Given the description of an element on the screen output the (x, y) to click on. 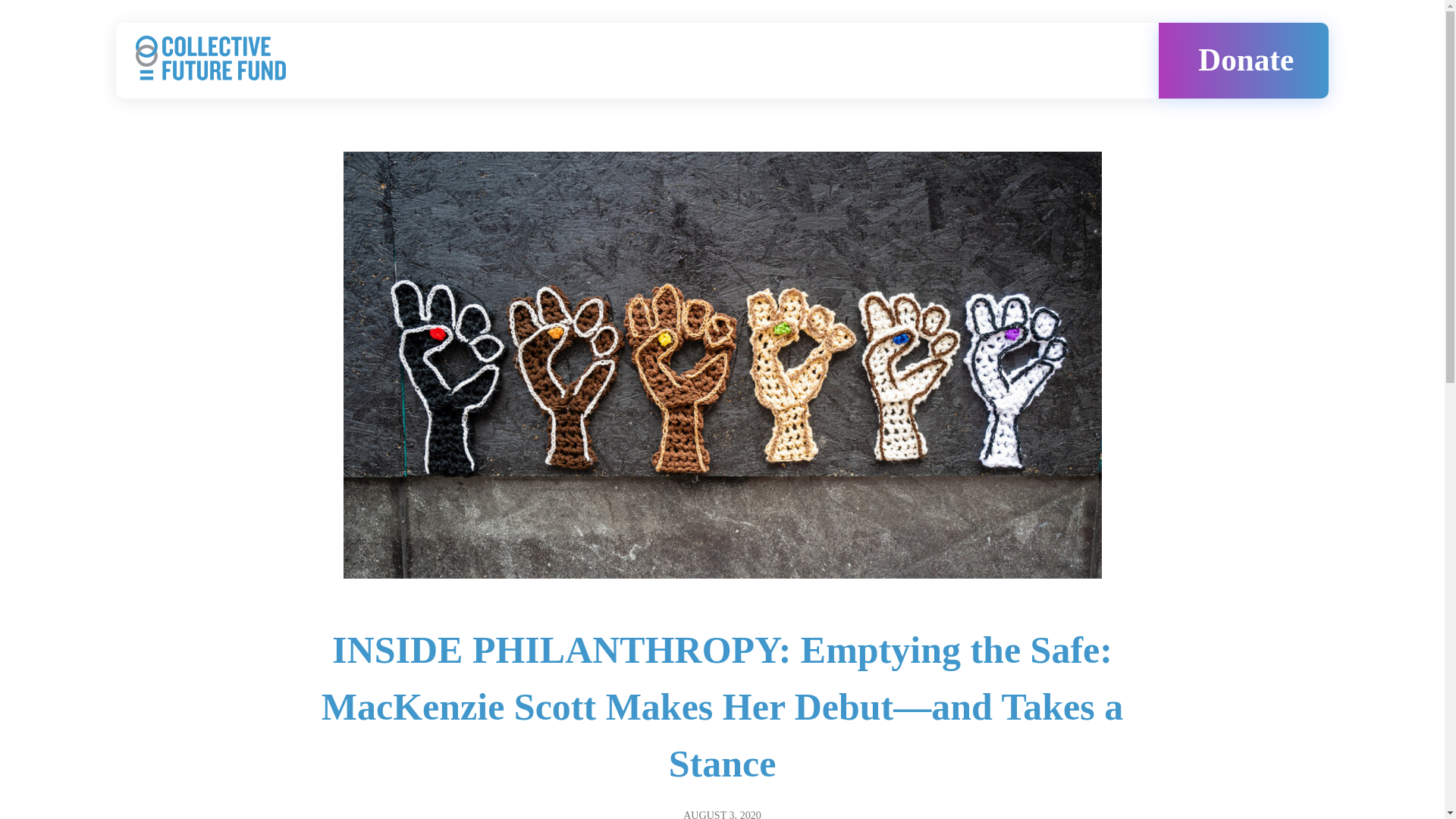
Read the full piece here. (371, 212)
Submit (711, 800)
Submit (711, 800)
